Given the description of an element on the screen output the (x, y) to click on. 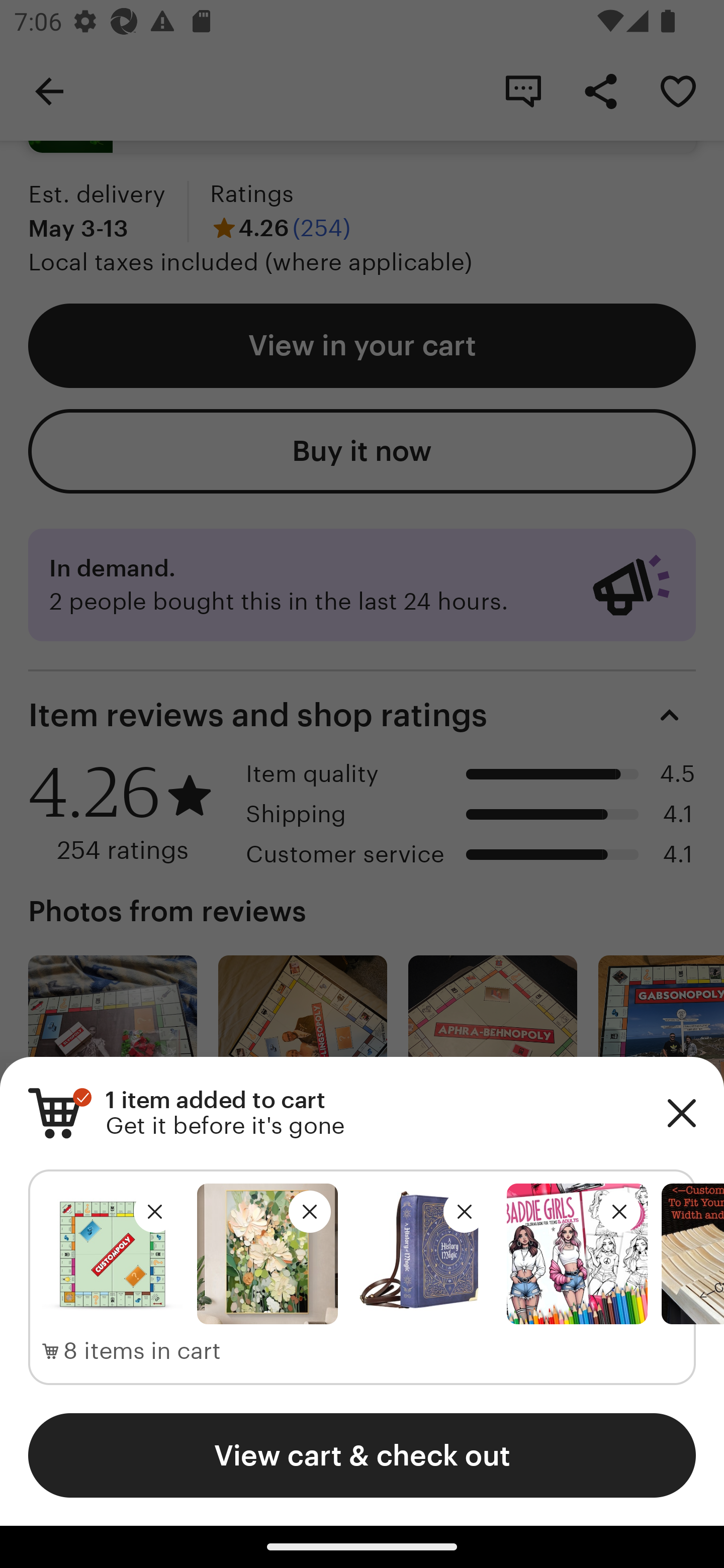
8 items in cart (131, 1351)
View cart & check out (361, 1454)
